Given the description of an element on the screen output the (x, y) to click on. 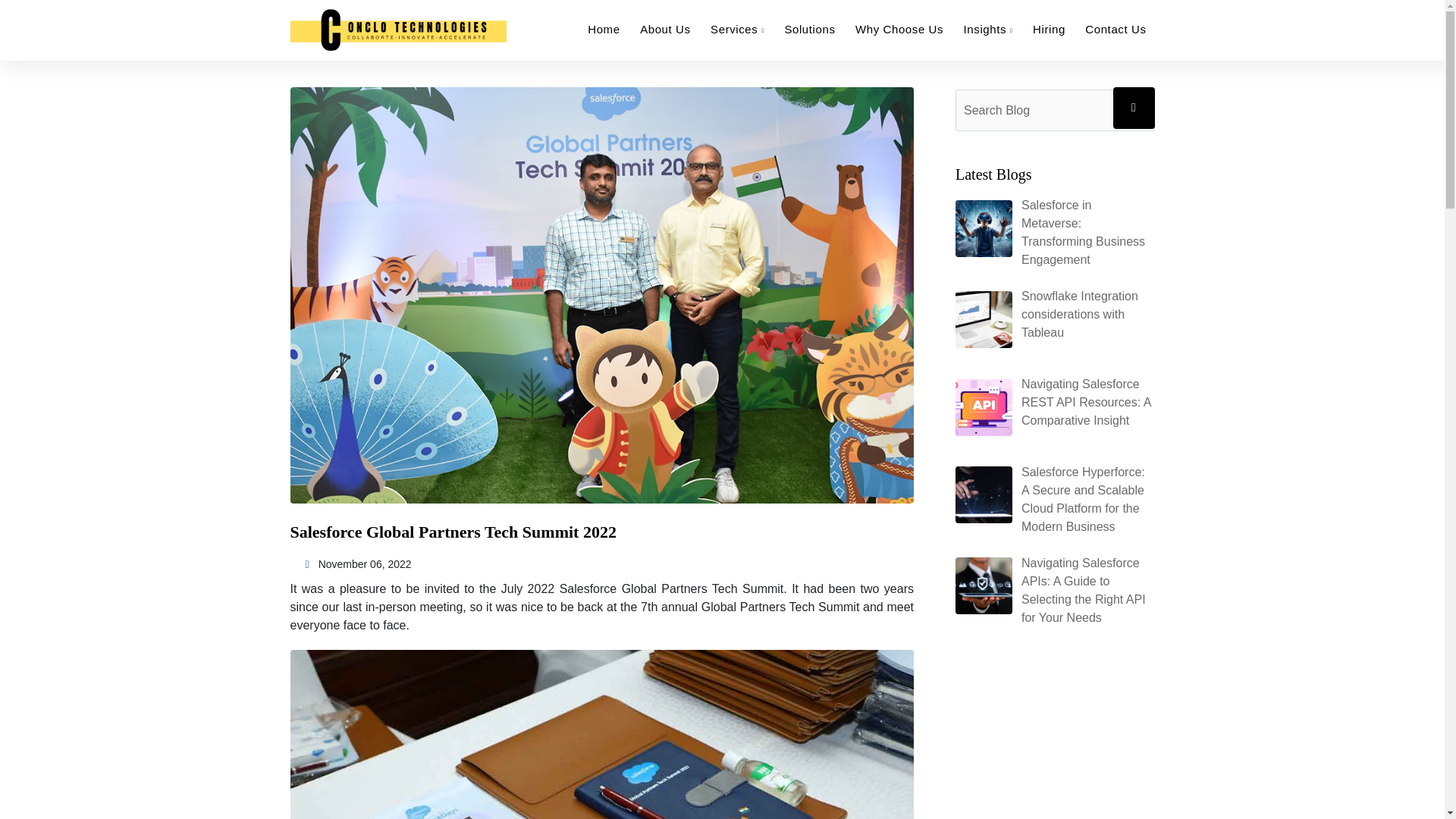
Services (737, 29)
Salesforce in Metaverse: Transforming Business Engagement (1083, 232)
Contact Us (1114, 29)
Snowflake Integration considerations with Tableau (1080, 314)
Salesforce Global Partners Tech Summit 2022 (452, 531)
Why Choose Us (899, 29)
Search (1133, 107)
